Given the description of an element on the screen output the (x, y) to click on. 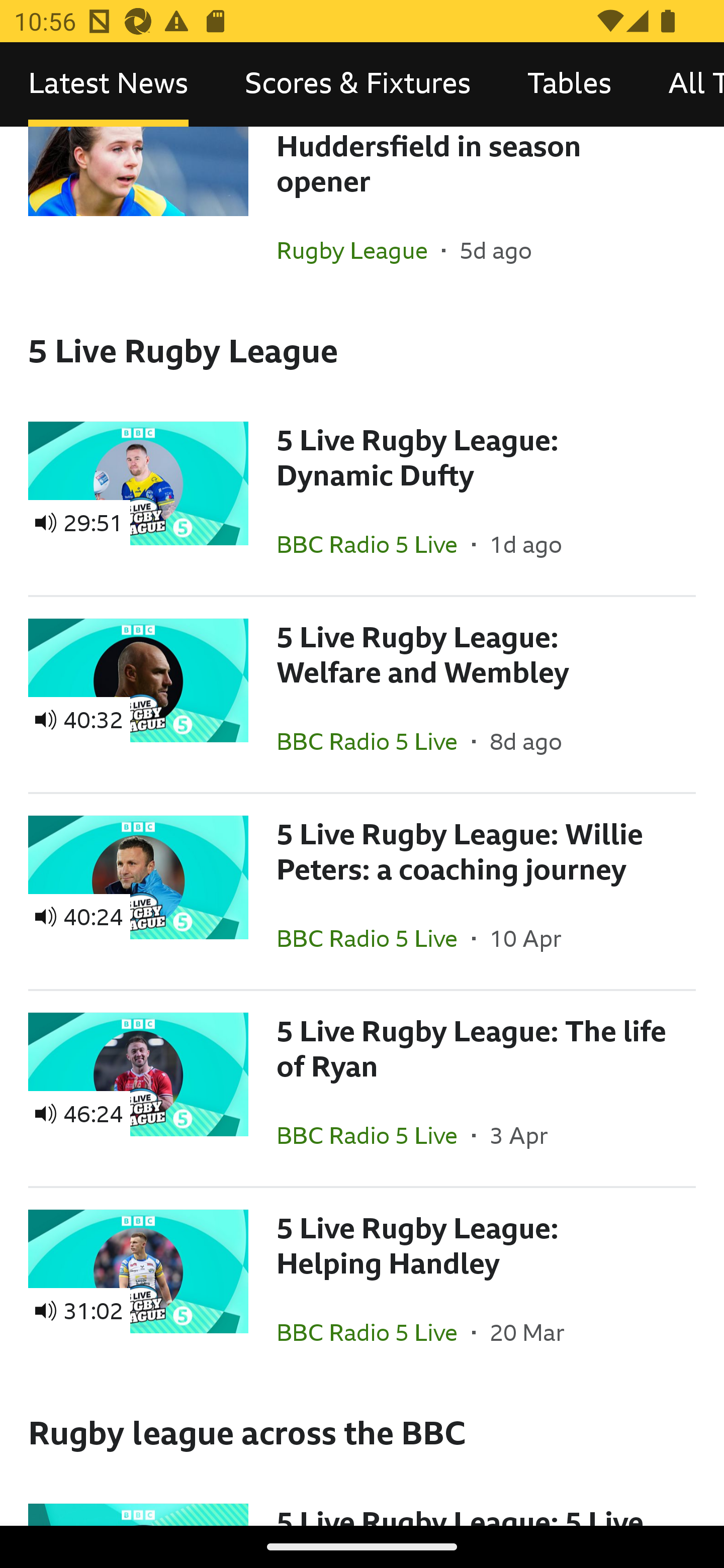
Latest News, selected Latest News (108, 84)
Scores & Fixtures (357, 84)
Tables (569, 84)
Rugby League In the section Rugby League (358, 250)
